Given the description of an element on the screen output the (x, y) to click on. 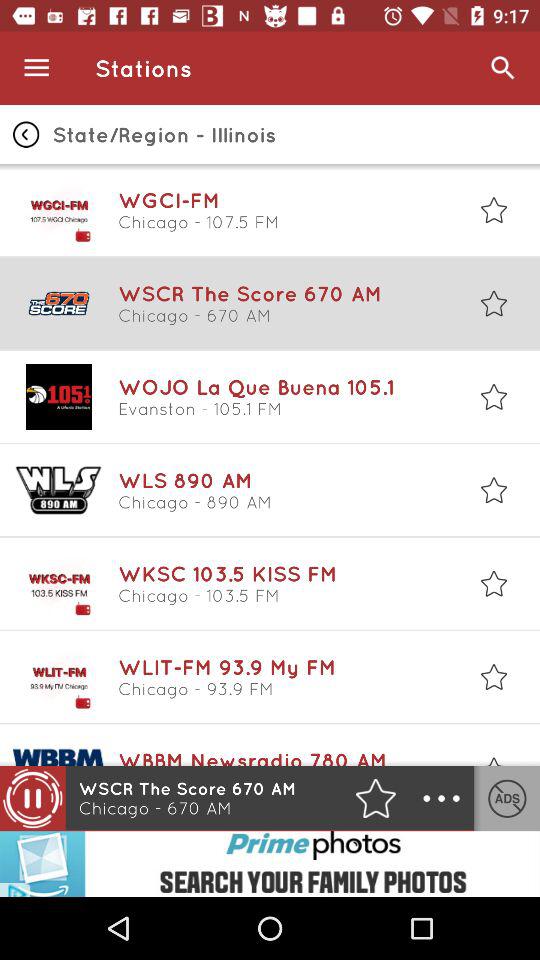
select the fifth star icon under the stations (494, 583)
